Given the description of an element on the screen output the (x, y) to click on. 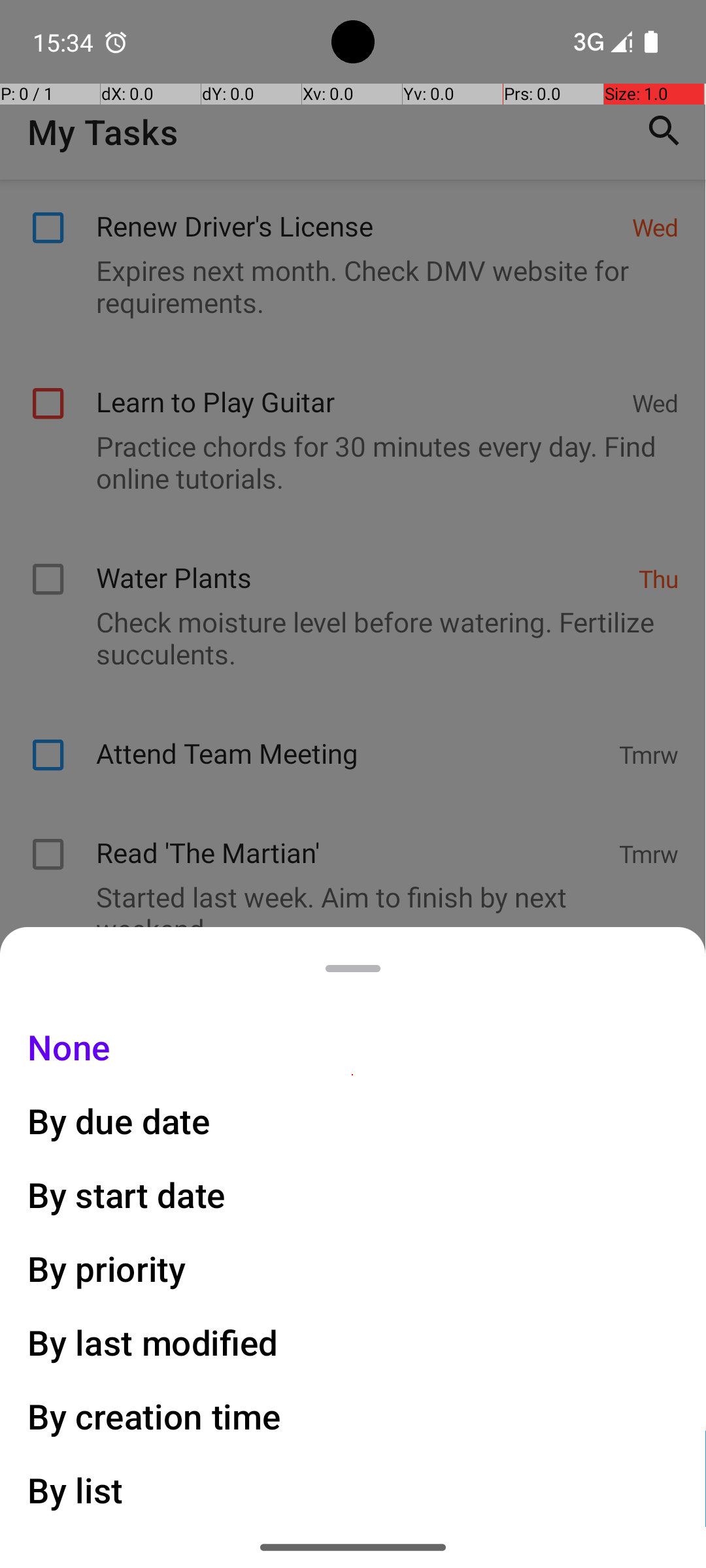
By last modified Element type: android.widget.TextView (152, 1342)
By creation time Element type: android.widget.TextView (154, 1415)
By list Element type: android.widget.TextView (75, 1489)
